Given the description of an element on the screen output the (x, y) to click on. 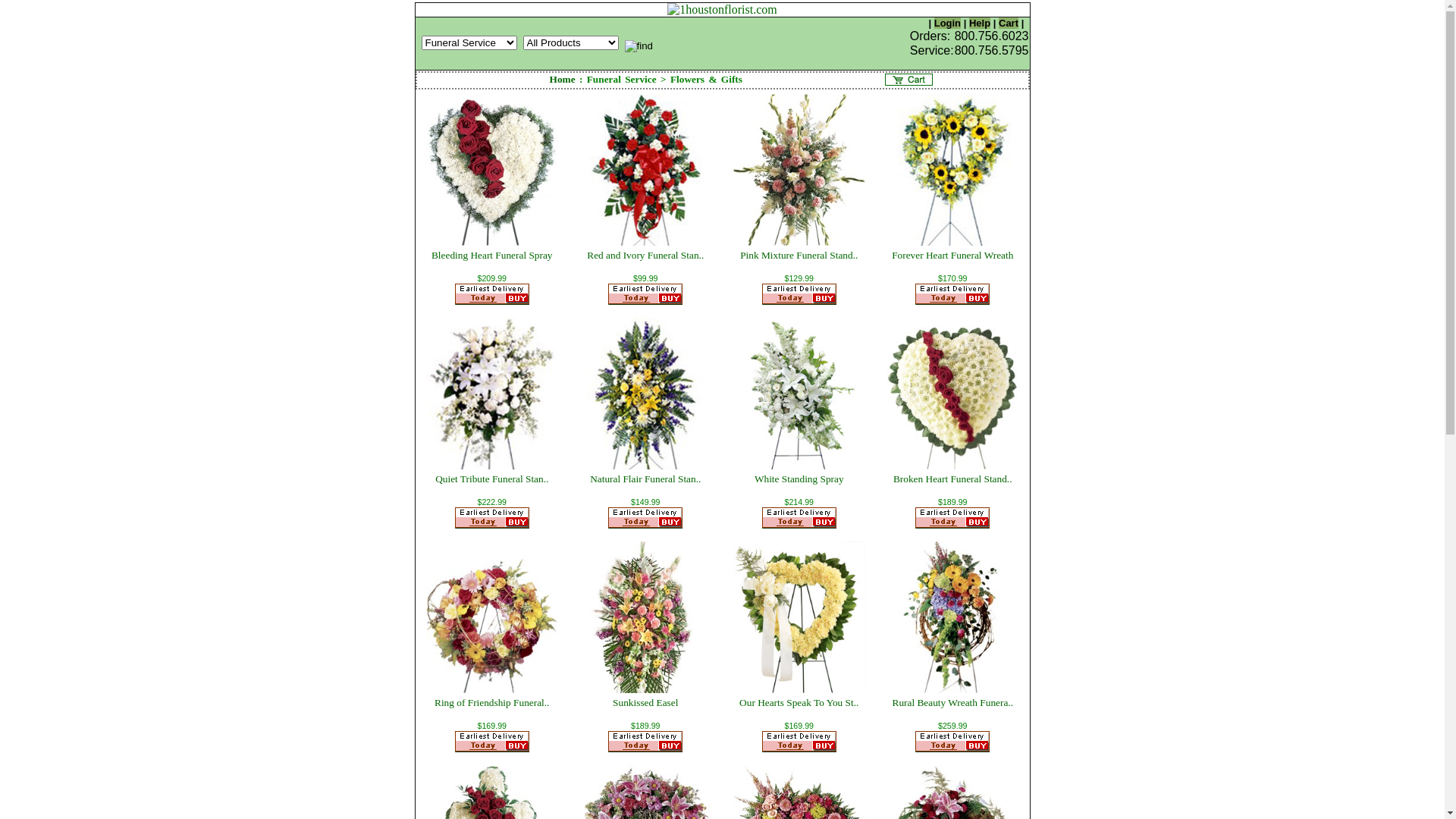
Red and Ivory Funeral Stan.. Element type: text (644, 254)
Sunkissed Easel Element type: text (644, 702)
Natural Flair Funeral Stan.. Element type: text (644, 478)
Home Element type: text (562, 78)
White Standing Spray Element type: text (799, 478)
Broken Heart Funeral Stand.. Element type: text (952, 478)
Forever Heart Funeral Wreath Element type: text (952, 254)
Login Element type: text (947, 22)
Our Hearts Speak To You St.. Element type: text (798, 702)
Cart Element type: text (1008, 22)
Quiet Tribute Funeral Stan.. Element type: text (491, 478)
Ring of Friendship Funeral.. Element type: text (491, 702)
Pink Mixture Funeral Stand.. Element type: text (798, 254)
Bleeding Heart Funeral Spray Element type: text (491, 254)
Rural Beauty Wreath Funera.. Element type: text (951, 702)
Help Element type: text (979, 22)
